Given the description of an element on the screen output the (x, y) to click on. 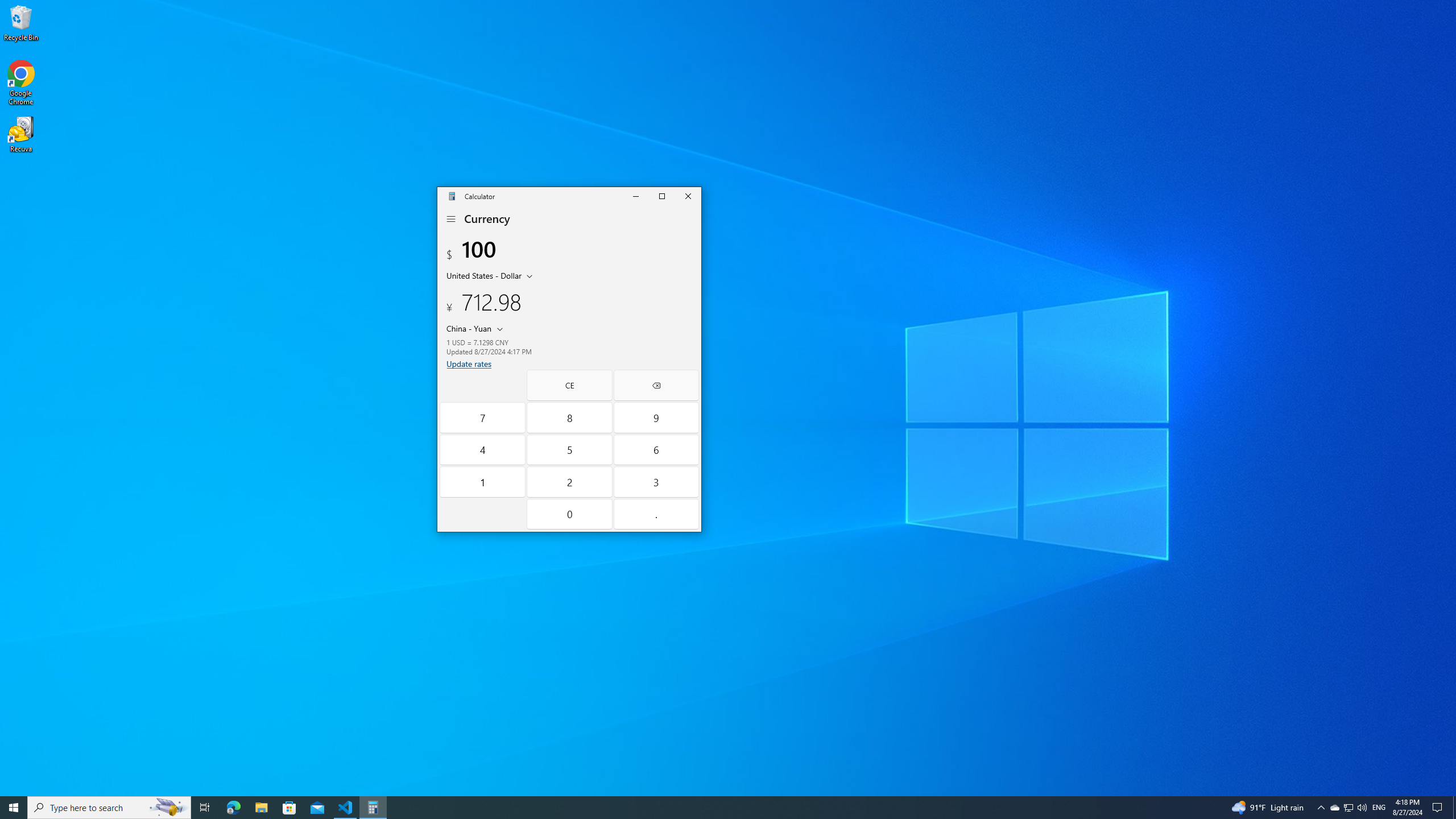
Start (13, 807)
United States Dollar (482, 275)
Maximize Calculator (662, 195)
Open Navigation (451, 218)
Decimal separator (1333, 807)
Search highlights icon opens search home window (655, 513)
Five (167, 807)
Minimize Calculator (569, 449)
Visual Studio Code - 1 running window (636, 195)
Clear entry (345, 807)
One (569, 385)
Action Center, No new notifications (482, 481)
